Given the description of an element on the screen output the (x, y) to click on. 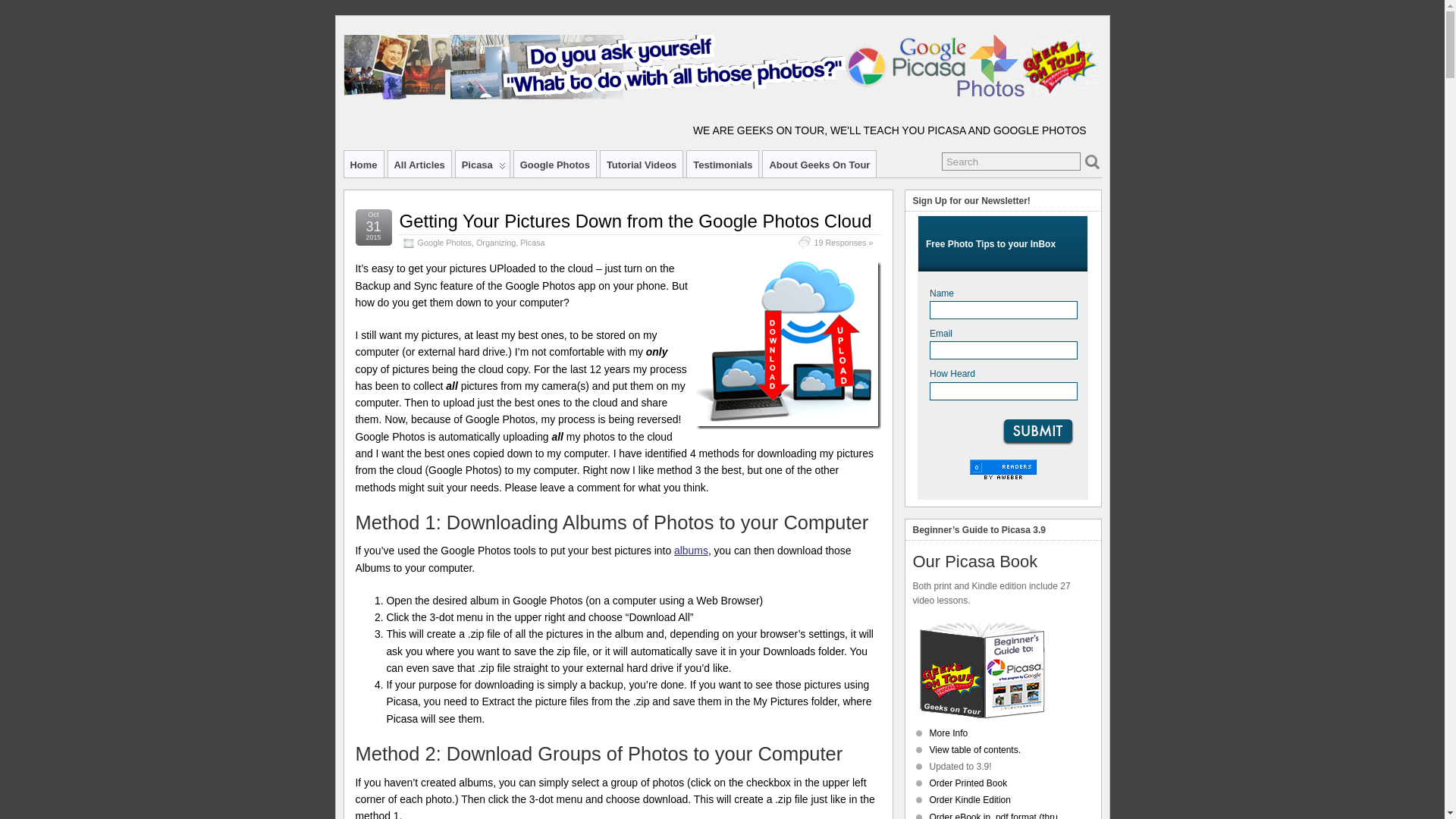
Home (363, 163)
Picasa (531, 242)
albums (690, 550)
Search (1011, 161)
About Geeks On Tour (819, 163)
Organizing (495, 242)
Google Photos (443, 242)
Search (1011, 161)
Getting Your Pictures Down from the Google Photos Cloud (634, 220)
Tutorial Videos (640, 163)
Testimonials (722, 163)
Getting Your Pictures Down from the Google Photos Cloud (634, 220)
 Picasa (482, 163)
All Articles (419, 163)
image (787, 345)
